Given the description of an element on the screen output the (x, y) to click on. 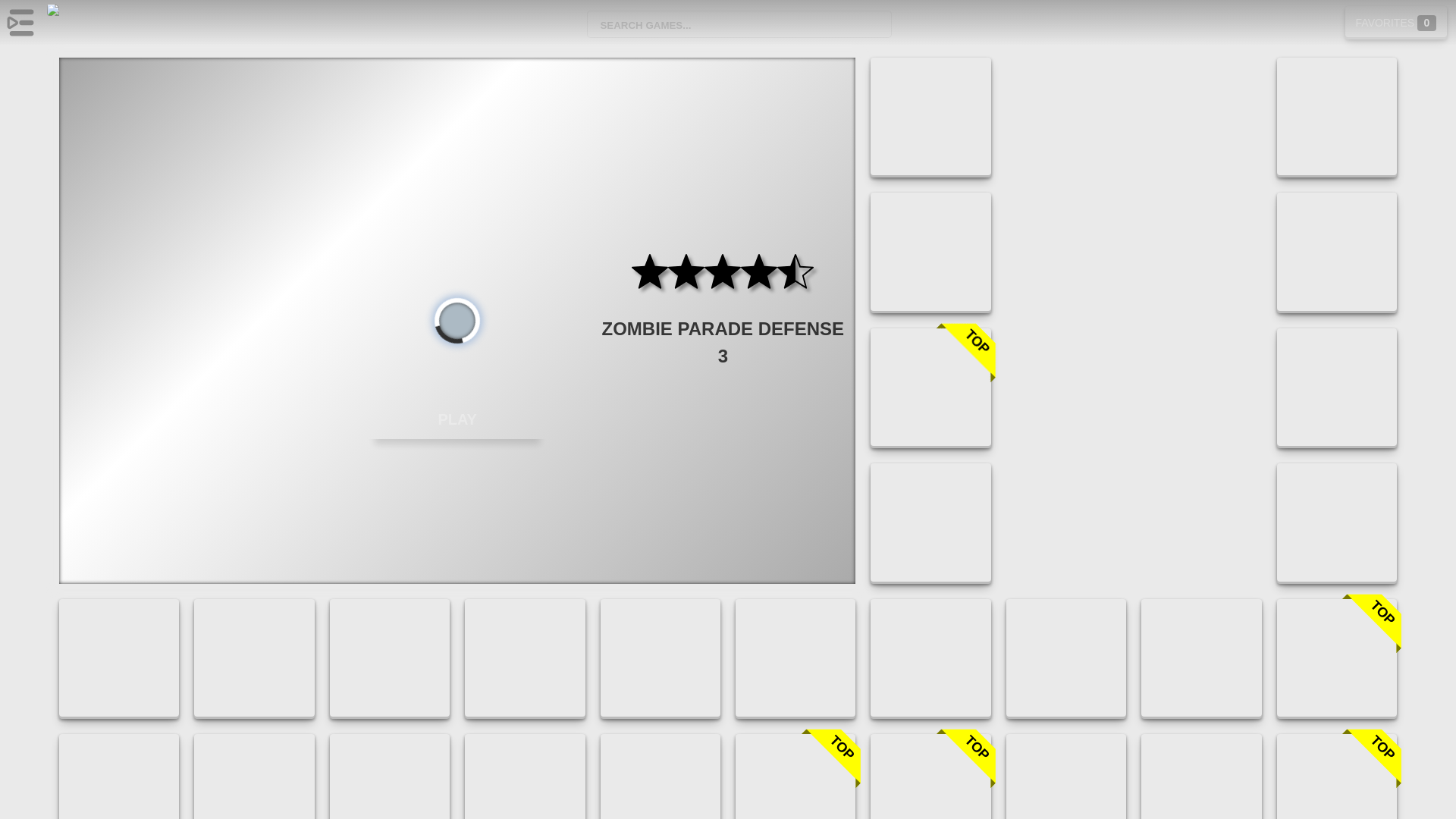
PLAY (456, 419)
Free Online Games (91, 22)
FAVORITES 0 (1396, 21)
